Given the description of an element on the screen output the (x, y) to click on. 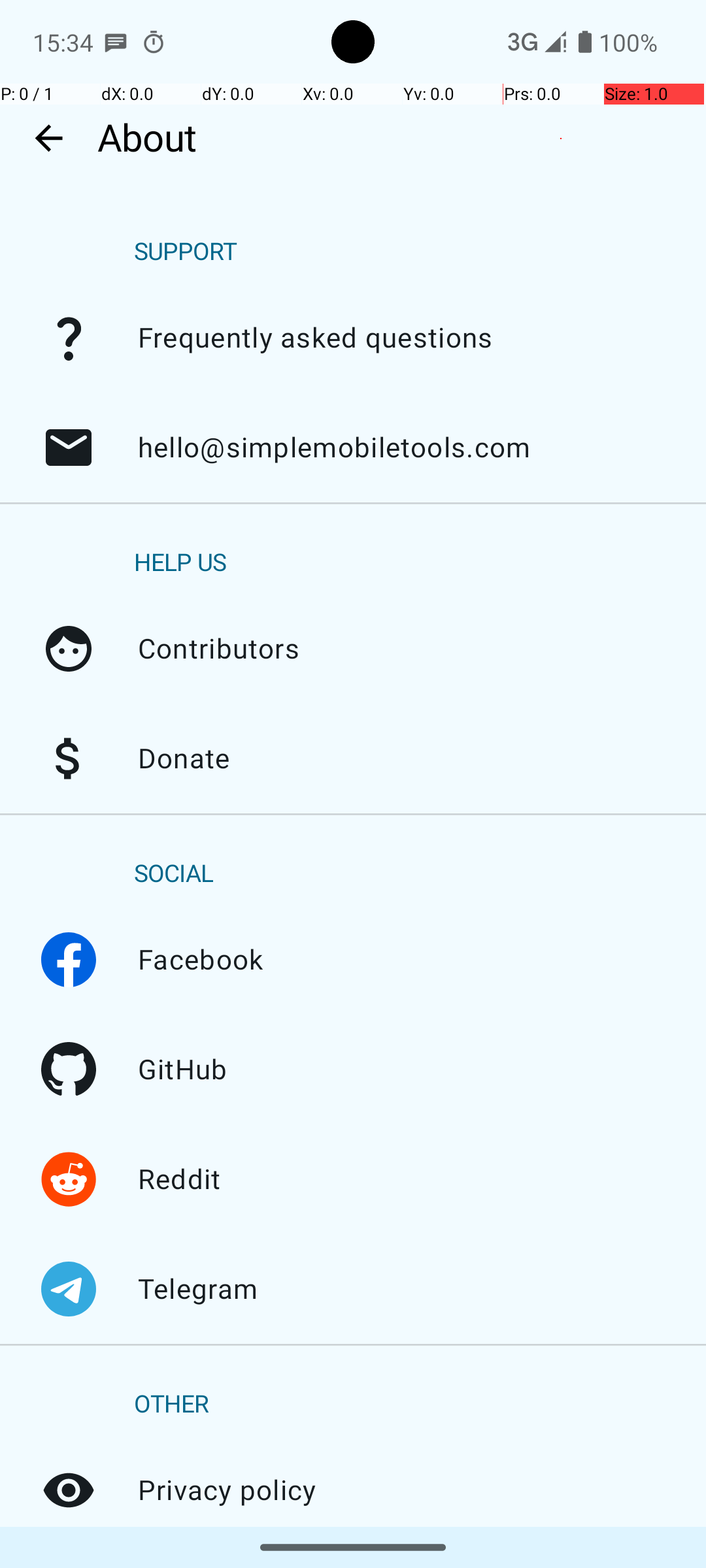
SUPPORT Element type: android.widget.TextView (185, 251)
HELP US Element type: android.widget.TextView (180, 562)
SOCIAL Element type: android.widget.TextView (173, 873)
OTHER Element type: android.widget.TextView (171, 1404)
Frequently asked questions Element type: android.view.View (68, 337)
hello@simplemobiletools.com Element type: android.view.View (68, 447)
Donate Element type: android.view.View (68, 758)
GitHub Element type: android.view.View (68, 1069)
Reddit Element type: android.view.View (68, 1178)
Telegram Element type: android.view.View (68, 1288)
Privacy policy Element type: android.view.View (68, 1489)
